Given the description of an element on the screen output the (x, y) to click on. 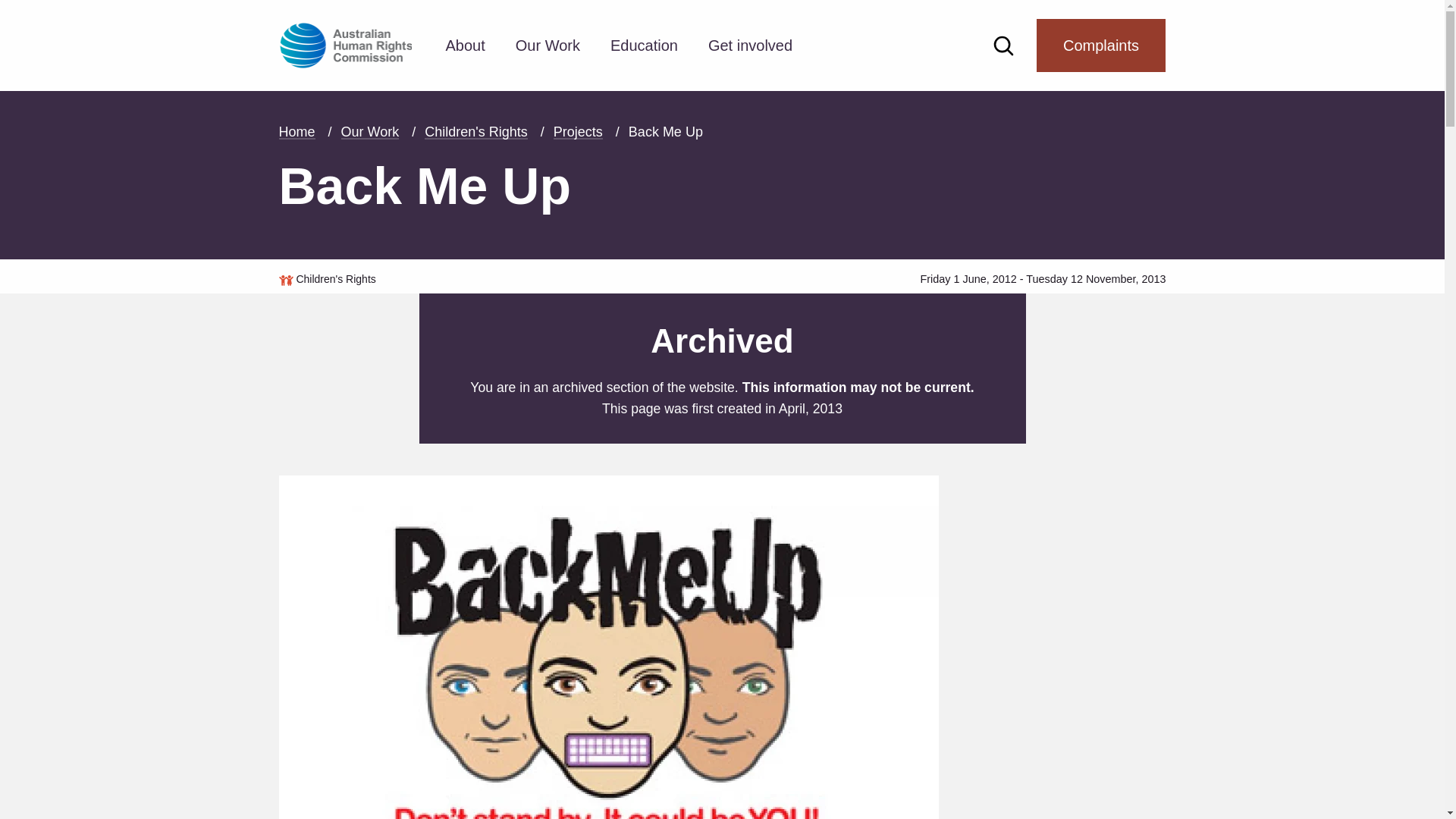
About (465, 45)
Education (644, 45)
Get involved (750, 45)
Our Work (547, 45)
